Given the description of an element on the screen output the (x, y) to click on. 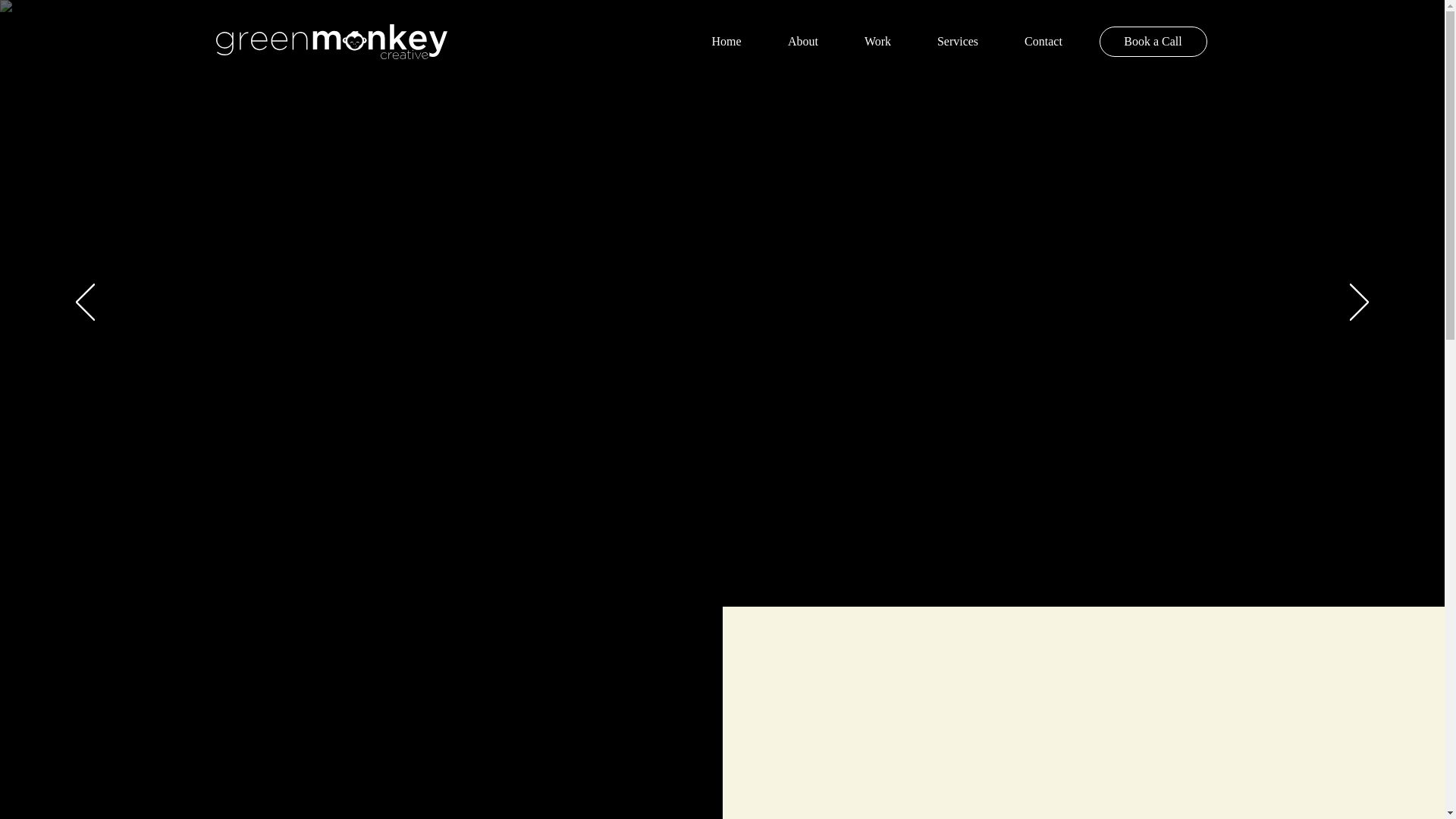
Contact (1042, 41)
About (802, 41)
Services (957, 41)
Book a Call (1153, 41)
Home (726, 41)
Work (877, 41)
